Given the description of an element on the screen output the (x, y) to click on. 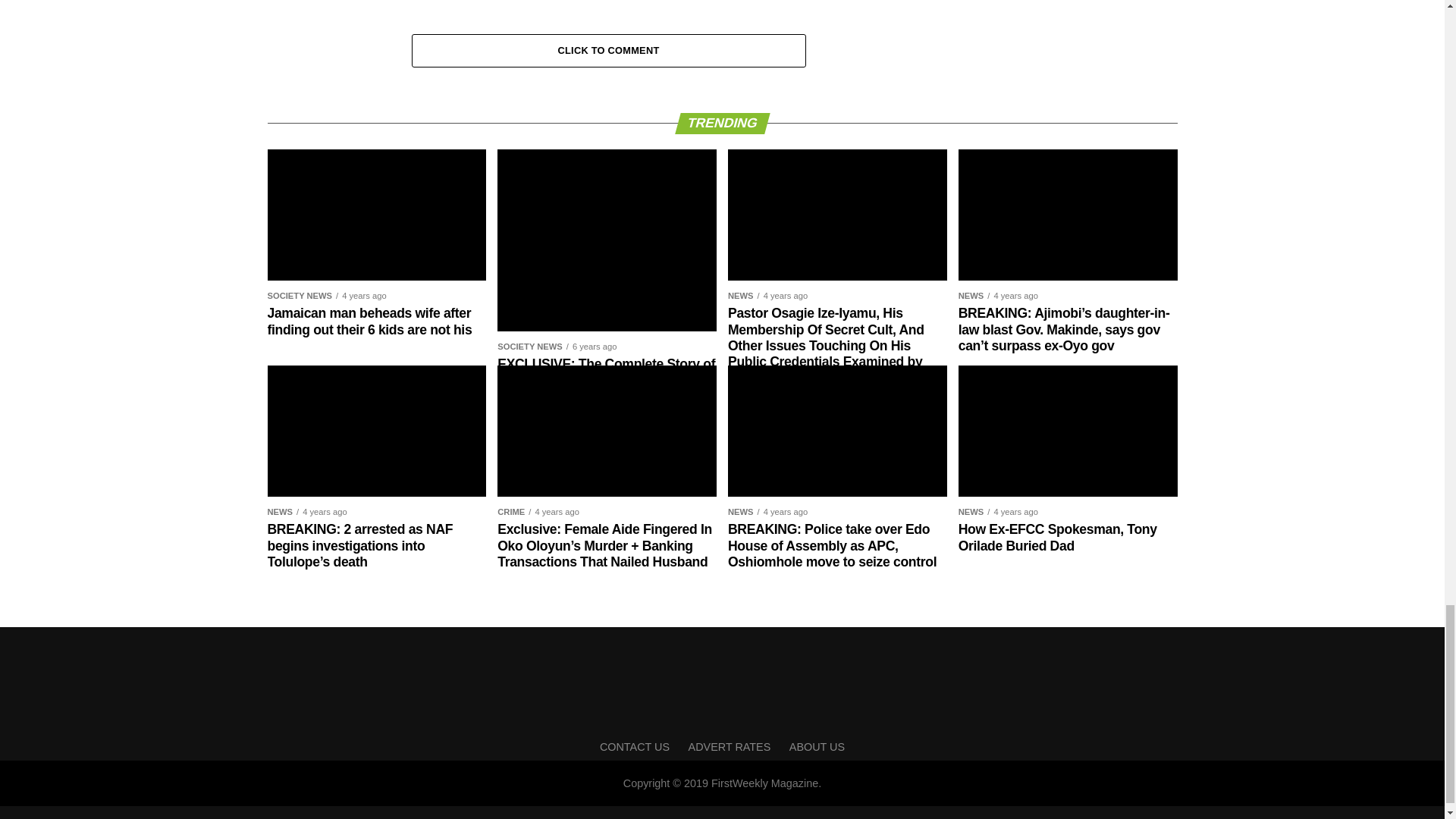
CONTACT US (634, 746)
ABOUT US (816, 746)
ADVERT RATES (729, 746)
